Given the description of an element on the screen output the (x, y) to click on. 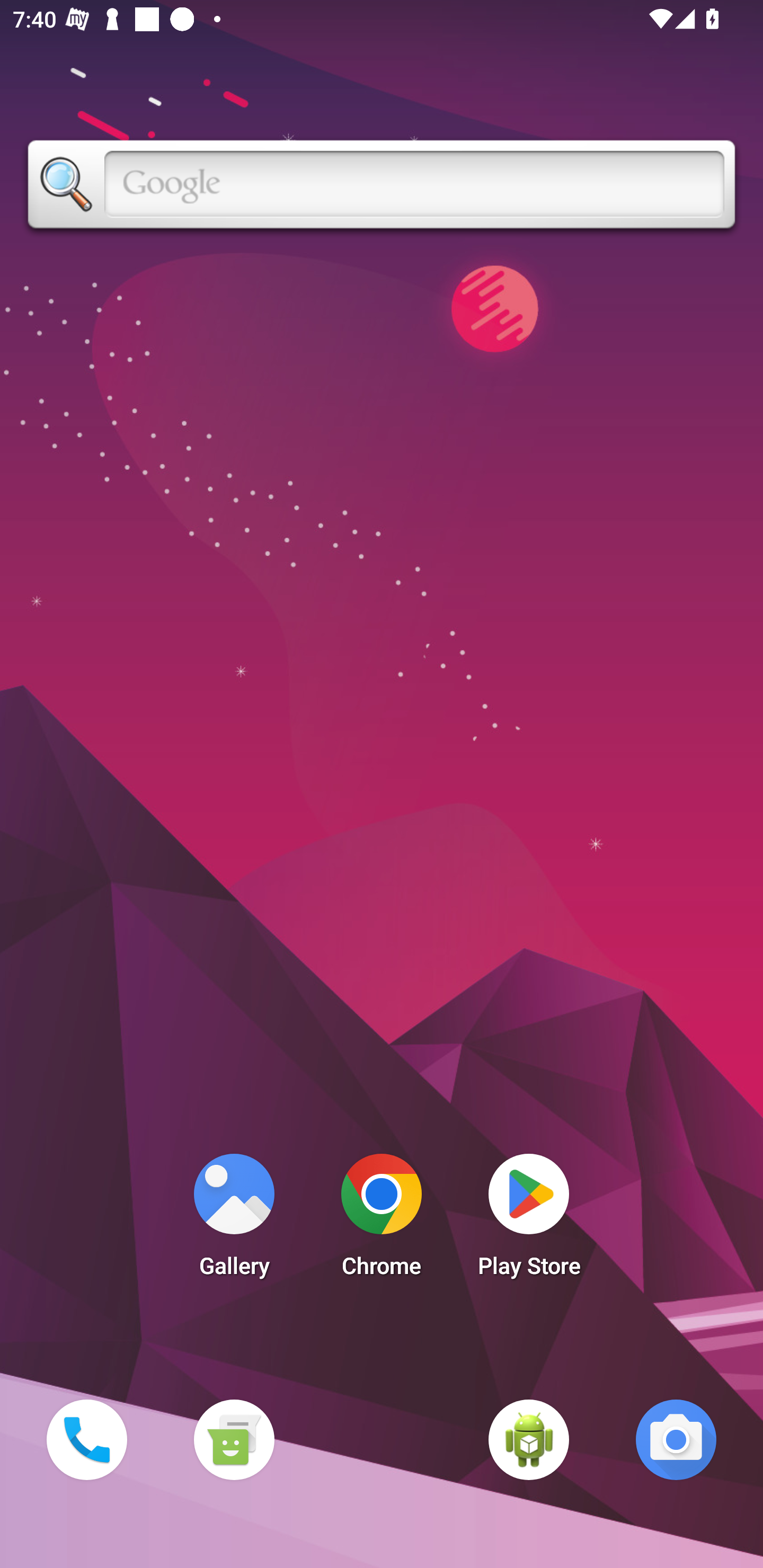
Gallery (233, 1220)
Chrome (381, 1220)
Play Store (528, 1220)
Phone (86, 1439)
Messaging (233, 1439)
WebView Browser Tester (528, 1439)
Camera (676, 1439)
